Given the description of an element on the screen output the (x, y) to click on. 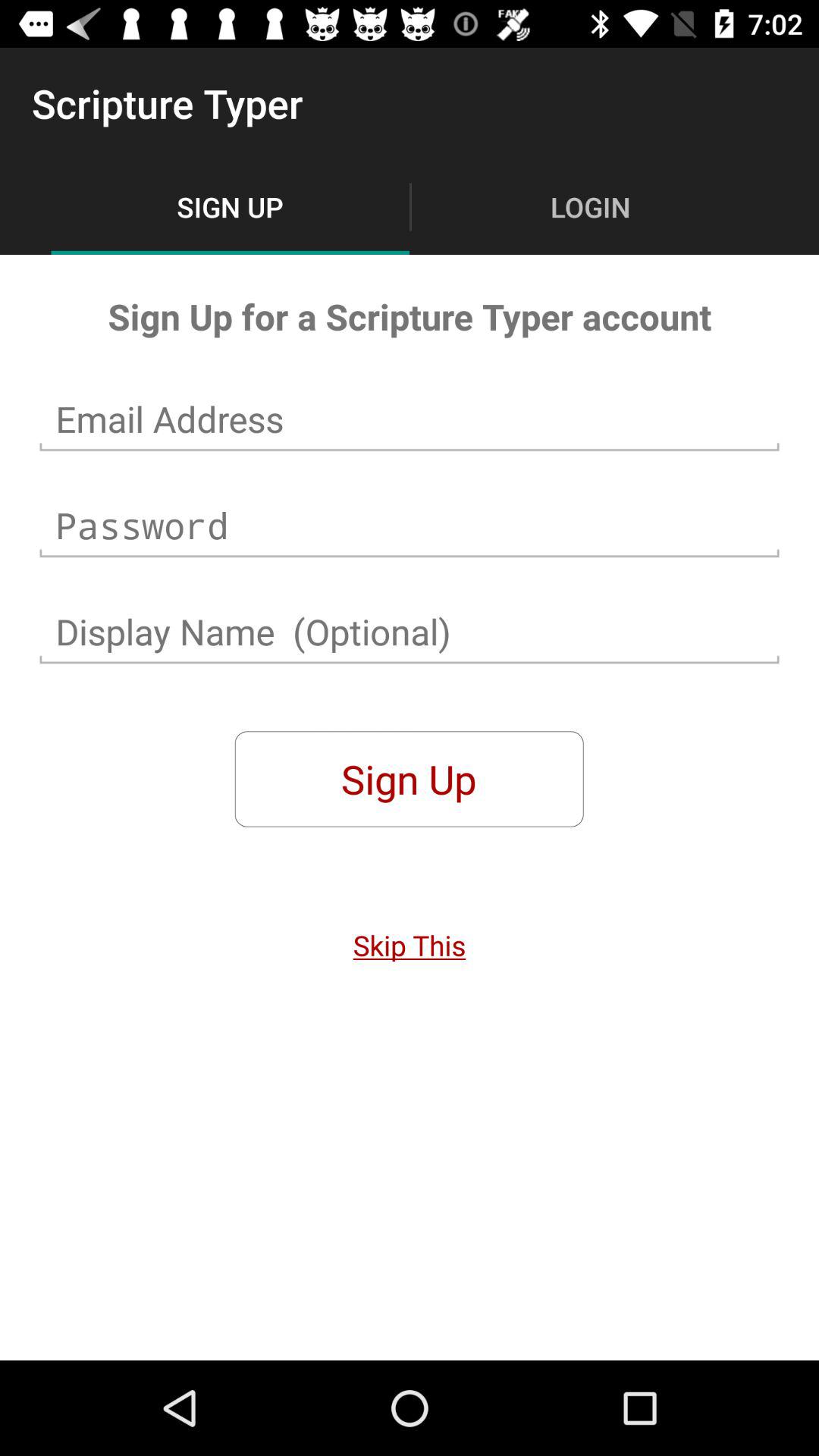
email address (409, 419)
